Given the description of an element on the screen output the (x, y) to click on. 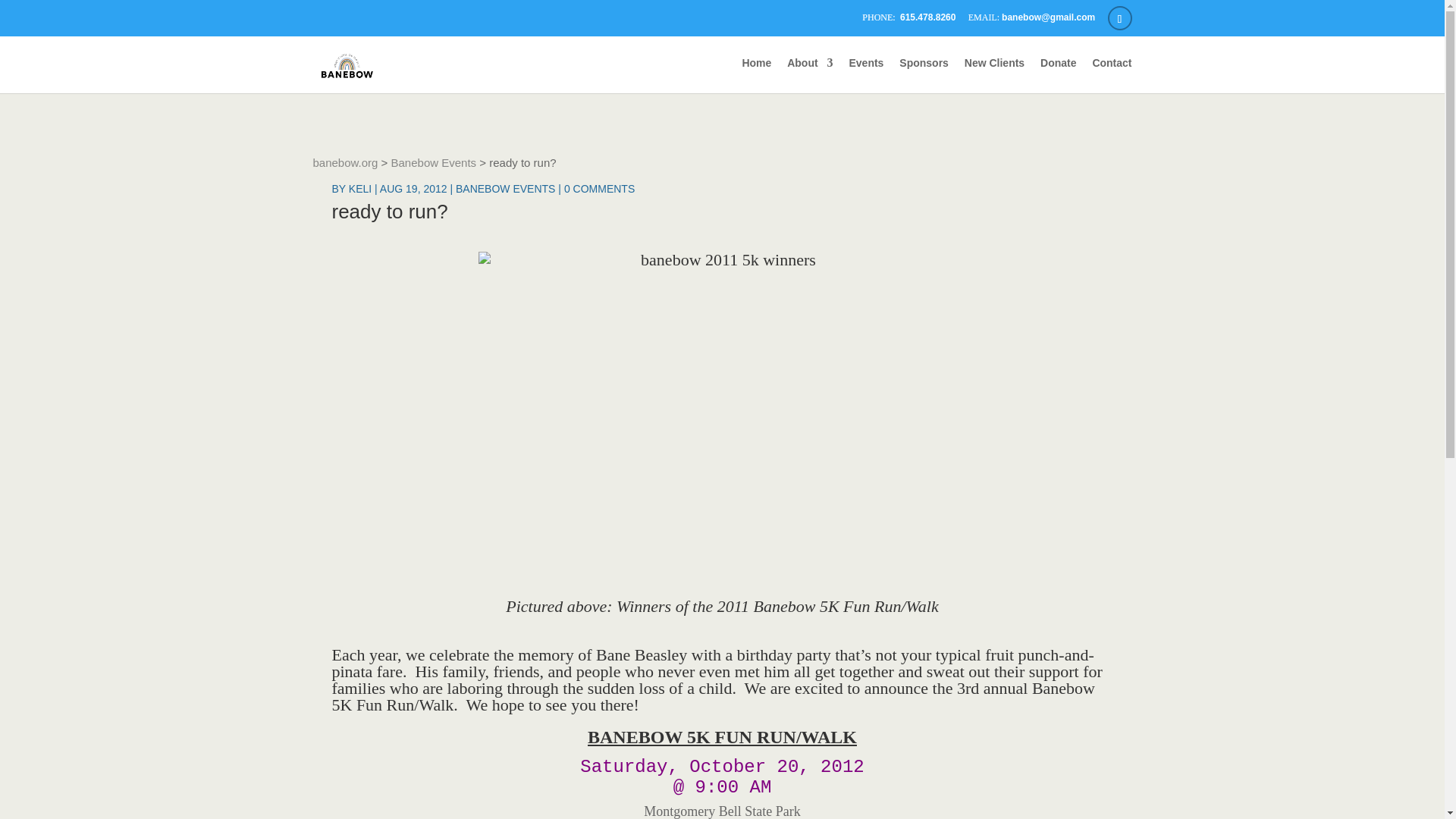
Bane Beasley (641, 654)
About (809, 75)
Events (865, 75)
New Clients (994, 75)
0 COMMENTS (599, 188)
KELI (360, 188)
Go to banebow.org. (345, 162)
Contact (1111, 75)
Go to the Banebow Events Category archives. (434, 162)
banebow.org (345, 162)
